Given the description of an element on the screen output the (x, y) to click on. 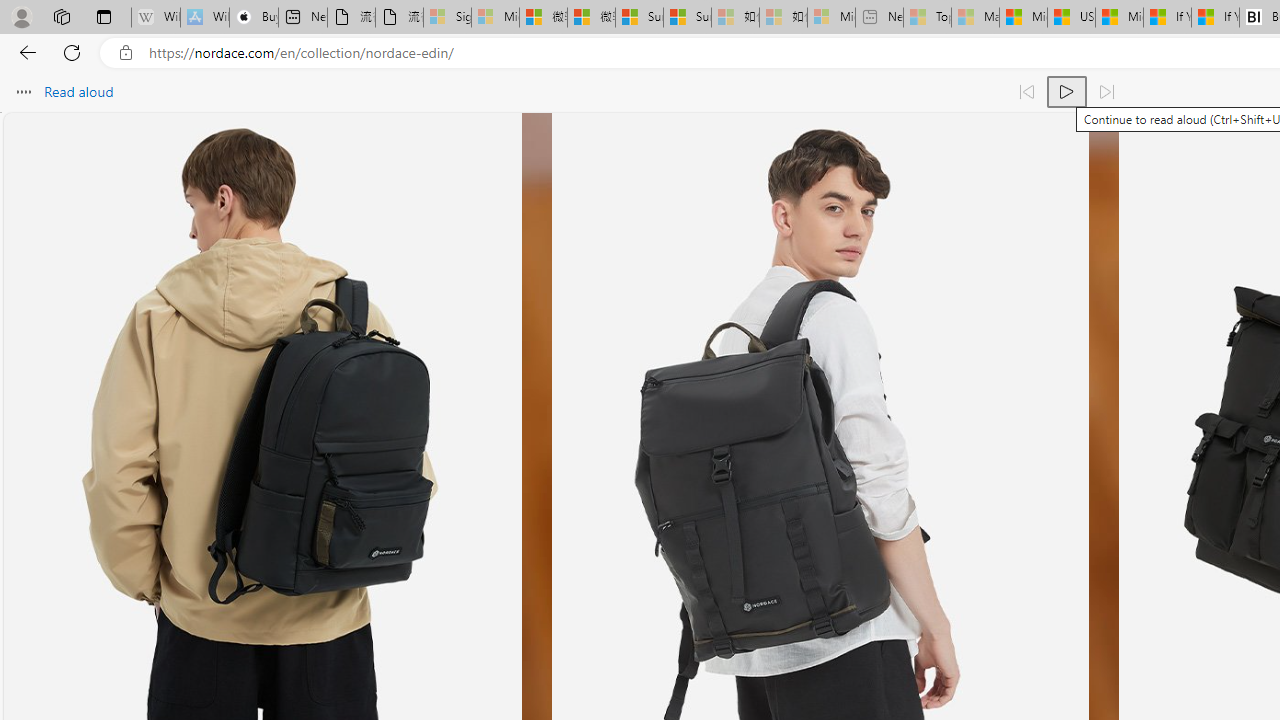
Read previous paragraph (1026, 92)
Microsoft account | Account Checkup - Sleeping (831, 17)
Top Stories - MSN - Sleeping (927, 17)
US Heat Deaths Soared To Record High Last Year (1071, 17)
Continue to read aloud (Ctrl+Shift+U) (1065, 92)
Personal Profile (21, 16)
